Given the description of an element on the screen output the (x, y) to click on. 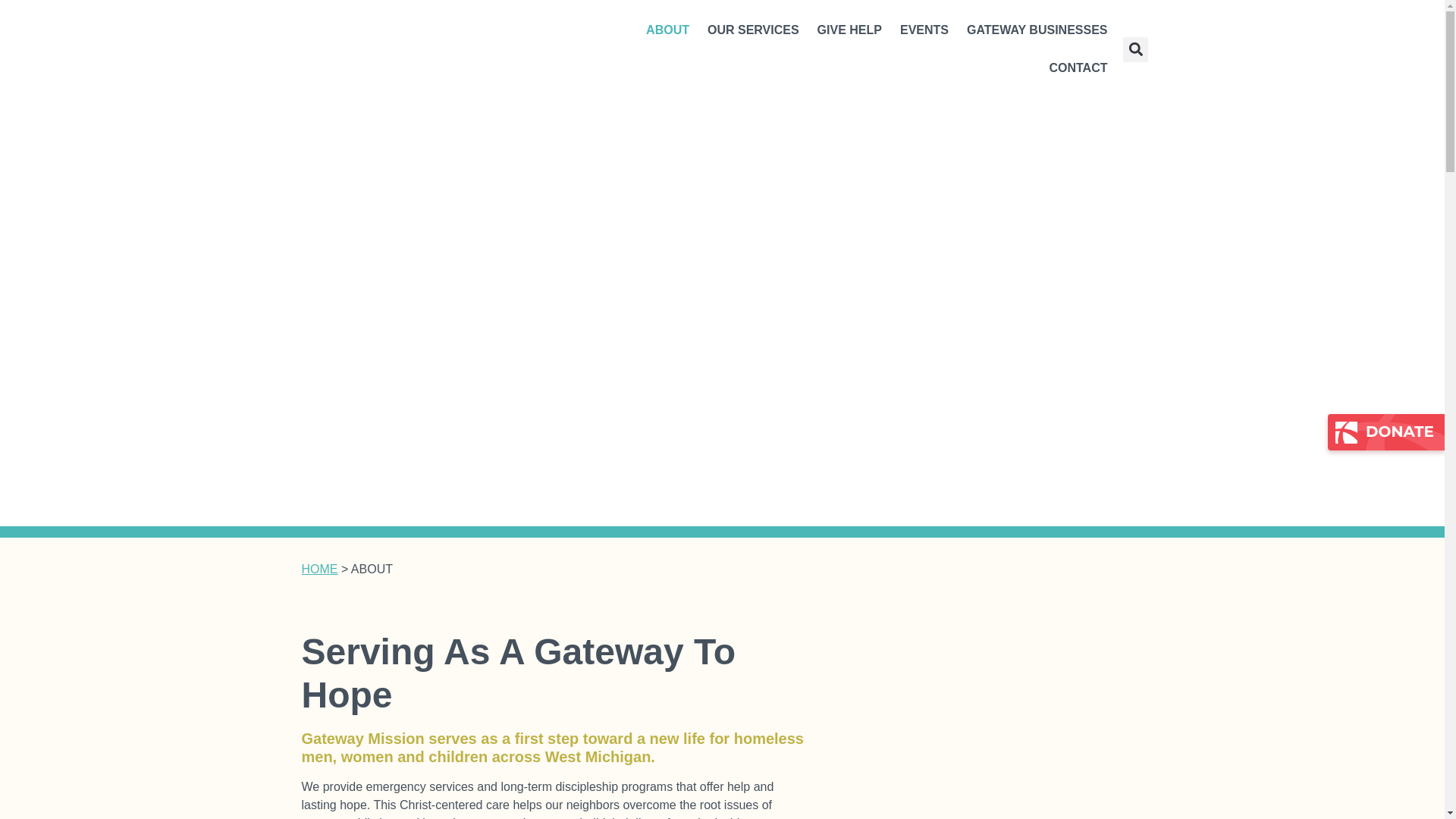
OUR SERVICES (753, 30)
ABOUT (667, 30)
GIVE HELP (849, 30)
